Given the description of an element on the screen output the (x, y) to click on. 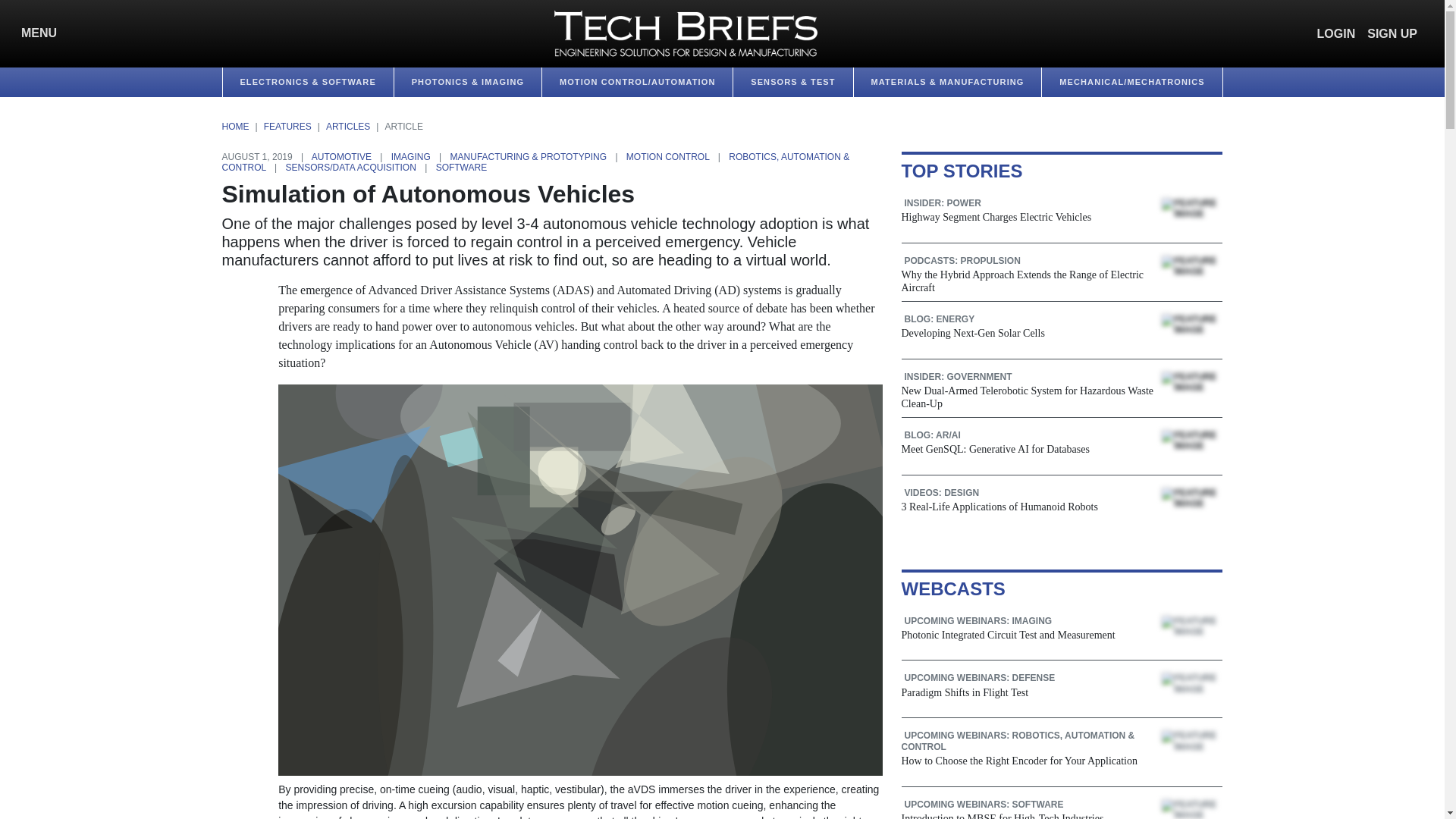
LOGIN (1336, 32)
SIGN UP (1392, 32)
MENU (35, 33)
